Given the description of an element on the screen output the (x, y) to click on. 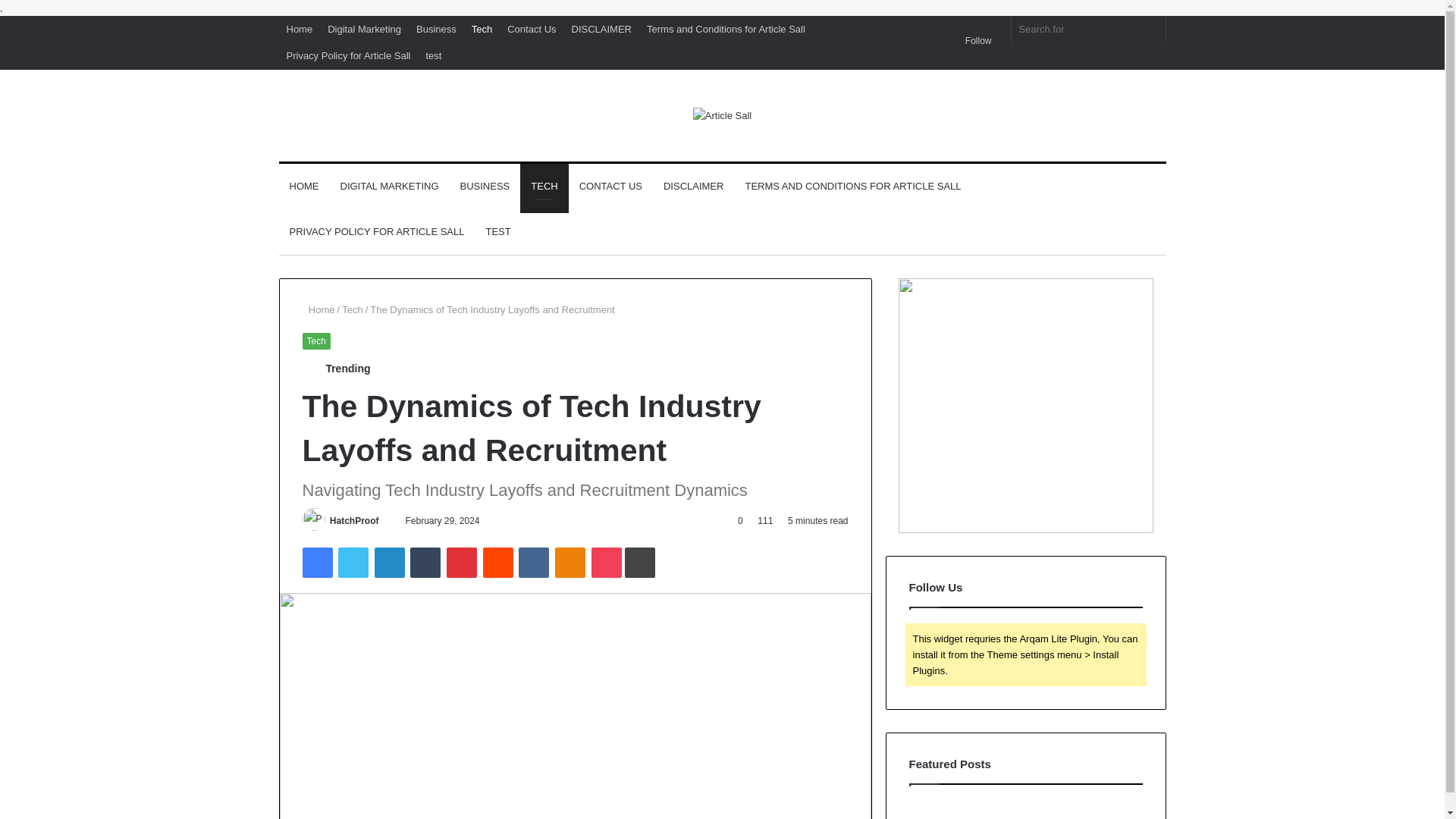
LinkedIn (389, 562)
Contact Us (531, 28)
Reddit (498, 562)
Twitter (352, 562)
TECH (543, 186)
Log In (945, 21)
Tech (481, 28)
Tech (352, 309)
LinkedIn (389, 562)
Terms and Conditions for Article Sall (725, 28)
Tumblr (425, 562)
VKontakte (533, 562)
Article Sall (722, 115)
Search for (1088, 28)
Follow (973, 40)
